Given the description of an element on the screen output the (x, y) to click on. 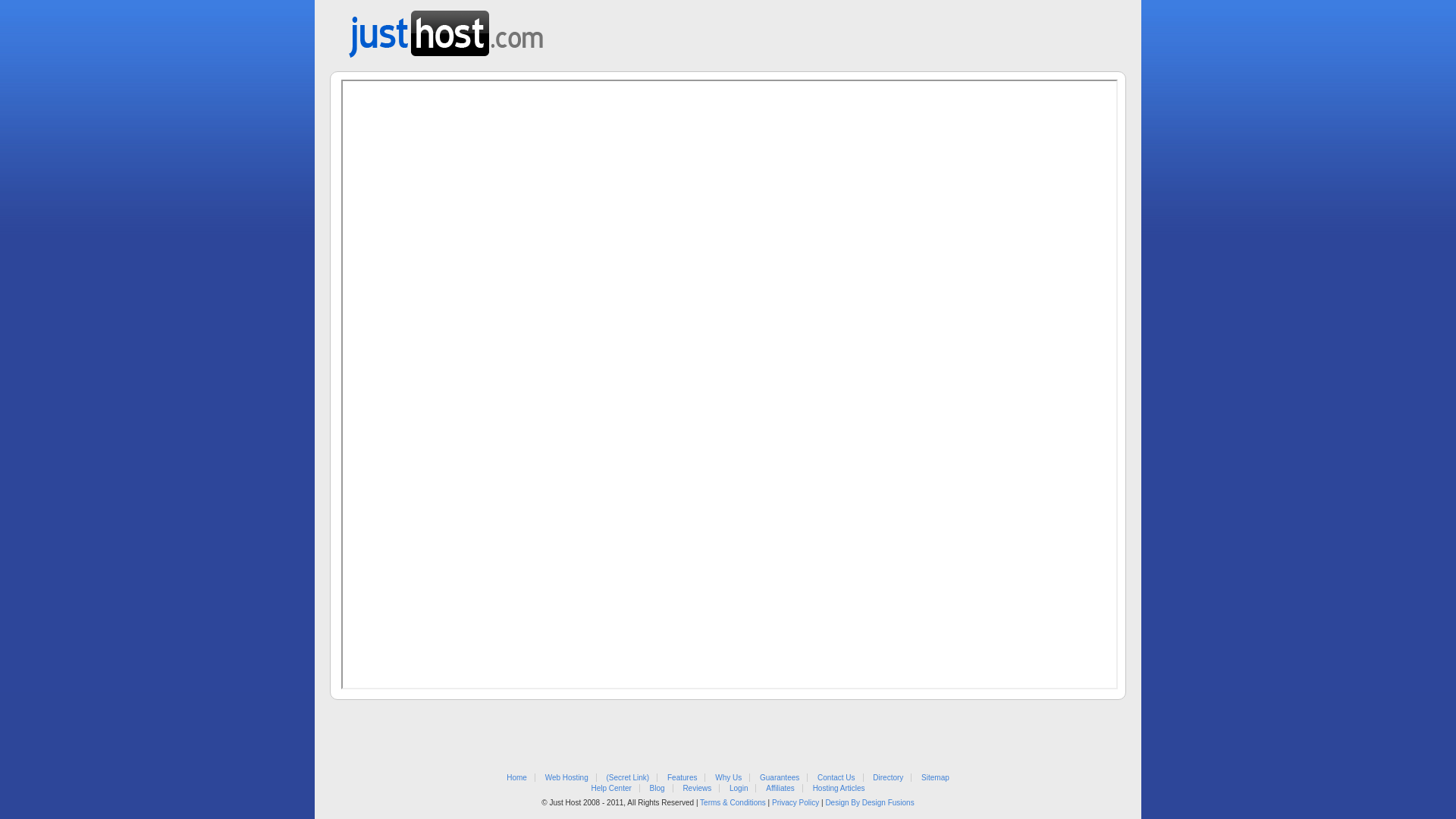
Guarantees Element type: text (779, 777)
Terms & Conditions Element type: text (732, 802)
Reviews Element type: text (696, 788)
Features Element type: text (681, 777)
Login Element type: text (738, 788)
Affiliates Element type: text (779, 788)
Help Center Element type: text (610, 788)
Sitemap Element type: text (935, 777)
(Secret Link) Element type: text (627, 777)
Home Element type: text (516, 777)
Web Hosting from Just Host Element type: text (445, 28)
Directory Element type: text (887, 777)
Hosting Articles Element type: text (838, 788)
Privacy Policy Element type: text (795, 802)
Contact Us Element type: text (835, 777)
Blog Element type: text (657, 788)
Why Us Element type: text (728, 777)
Design By Design Fusions Element type: text (869, 802)
Web Hosting Element type: text (566, 777)
